Given the description of an element on the screen output the (x, y) to click on. 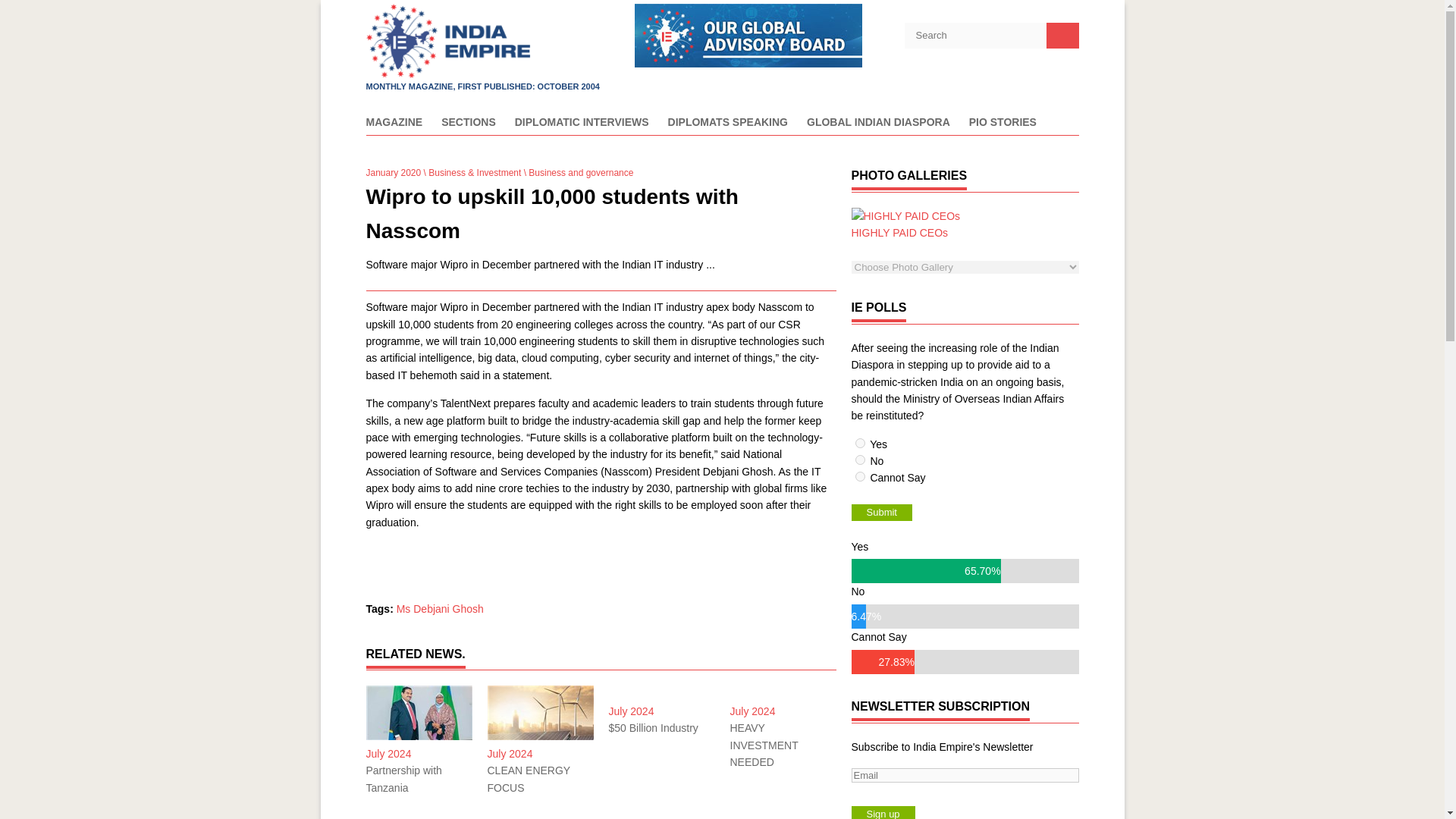
Partnership with Tanzania (418, 779)
CLEAN ENERGY FOCUS (539, 779)
HIGHLY PAID CEOs (904, 224)
DIPLOMATIC INTERVIEWS (582, 126)
1 (860, 442)
GLOBAL INDIAN DIASPORA (878, 126)
Submit (880, 512)
2 (860, 460)
Ms Debjani Ghosh (439, 608)
DIPLOMATS SPEAKING (727, 126)
